Given the description of an element on the screen output the (x, y) to click on. 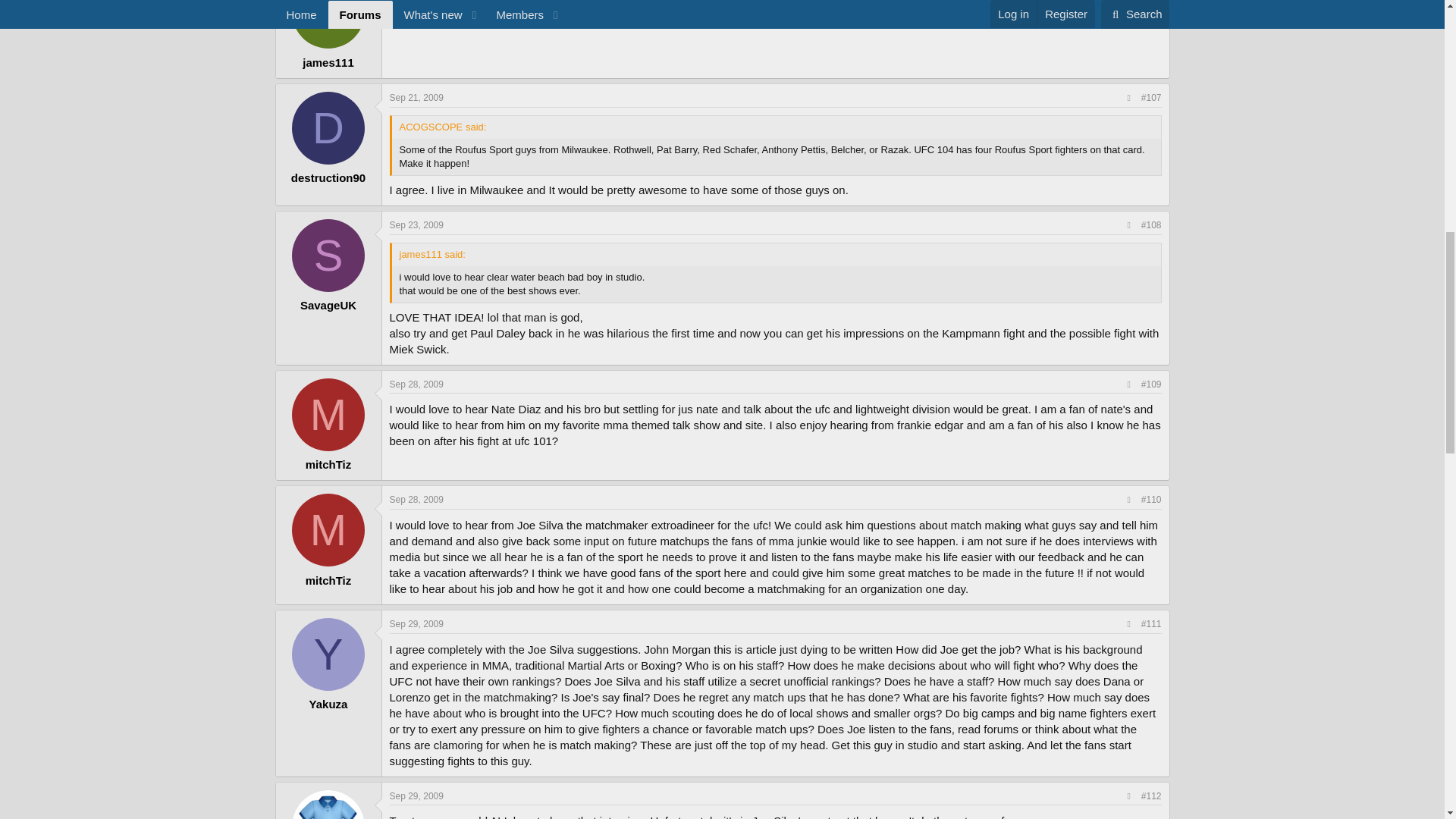
Sep 21, 2009 at 8:20 AM (417, 97)
Sep 28, 2009 at 7:38 AM (417, 384)
Sep 23, 2009 at 11:00 AM (417, 225)
